Given the description of an element on the screen output the (x, y) to click on. 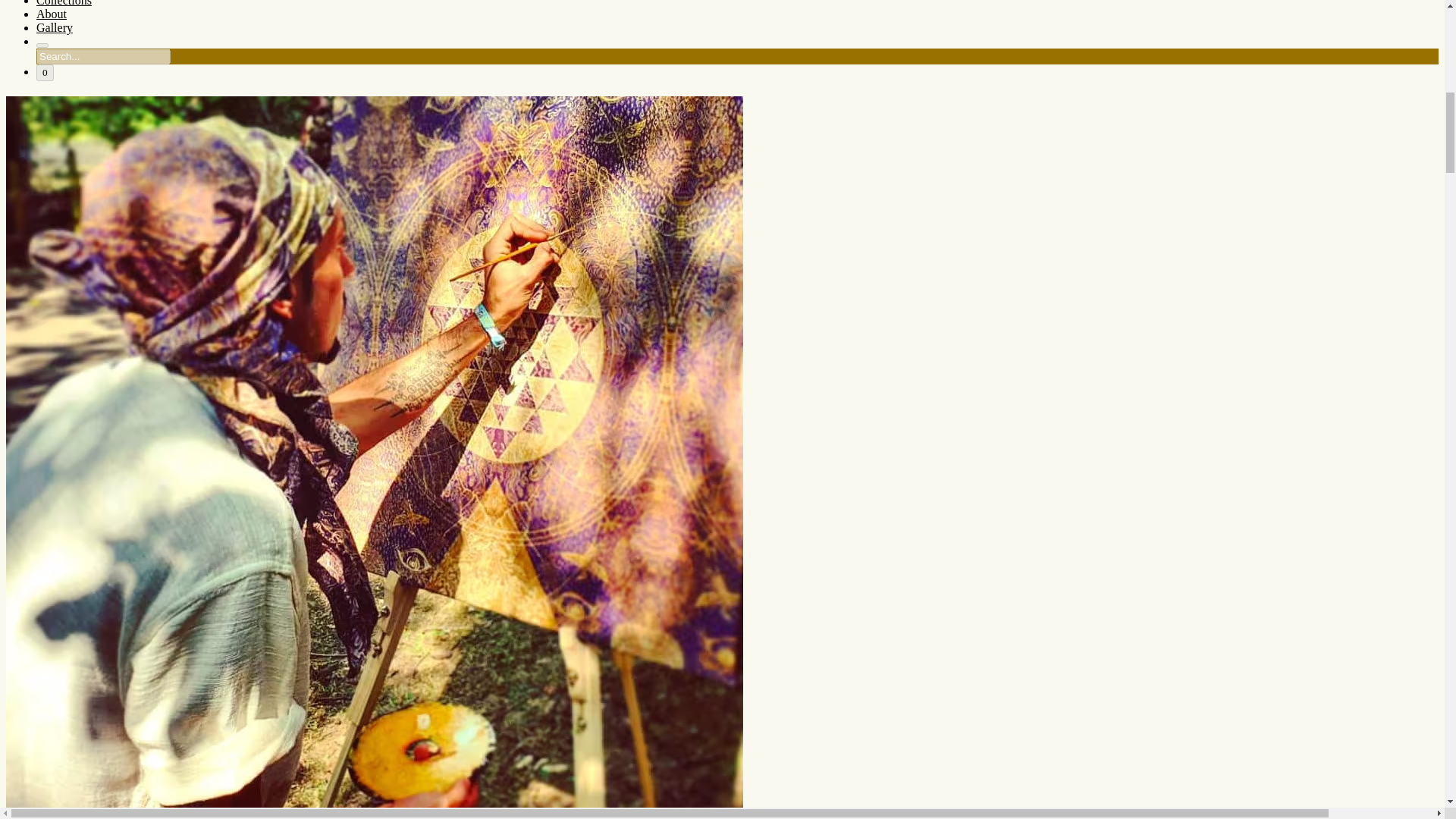
0 (44, 72)
About (51, 13)
Collections (63, 3)
Gallery (54, 27)
